Given the description of an element on the screen output the (x, y) to click on. 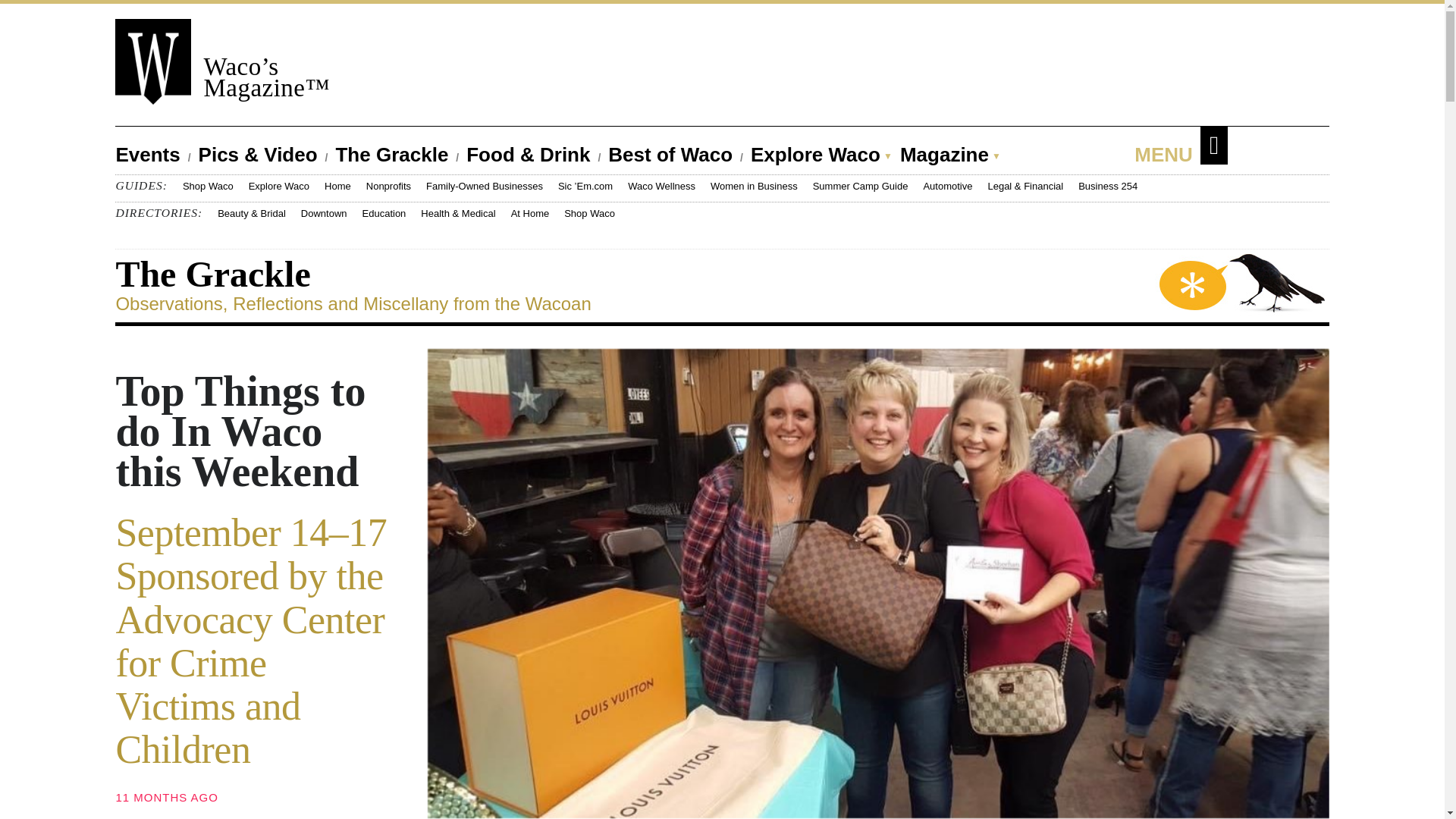
Business 254 (1107, 185)
Home (337, 185)
Shop Waco (207, 185)
Nonprofits (388, 185)
Downtown (324, 213)
Explore Waco (815, 154)
The Grackle (399, 154)
Family-Owned Businesses (484, 185)
Automotive (947, 185)
Events (156, 154)
